Given the description of an element on the screen output the (x, y) to click on. 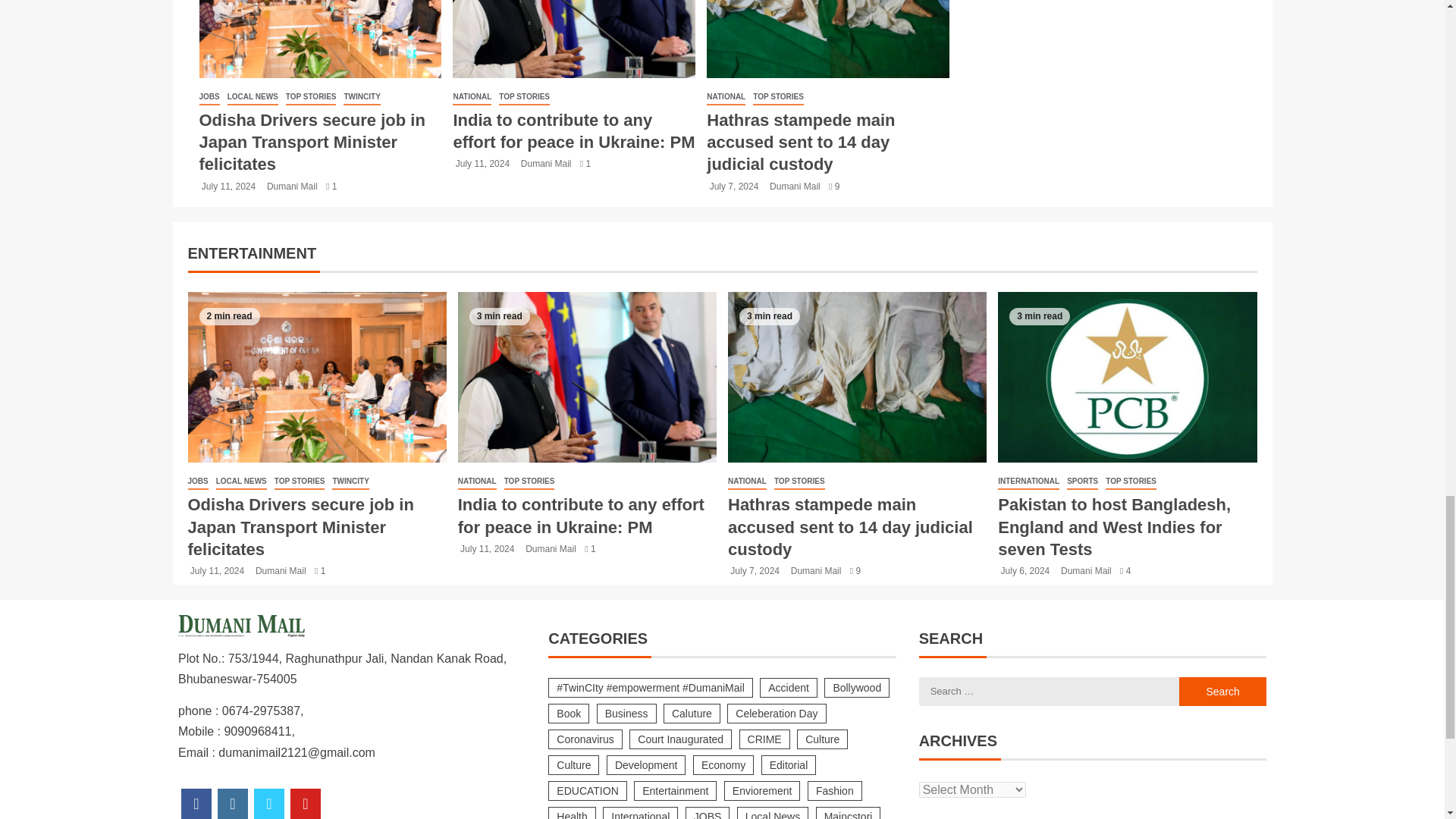
Search (1222, 691)
Search (1222, 691)
